Given the description of an element on the screen output the (x, y) to click on. 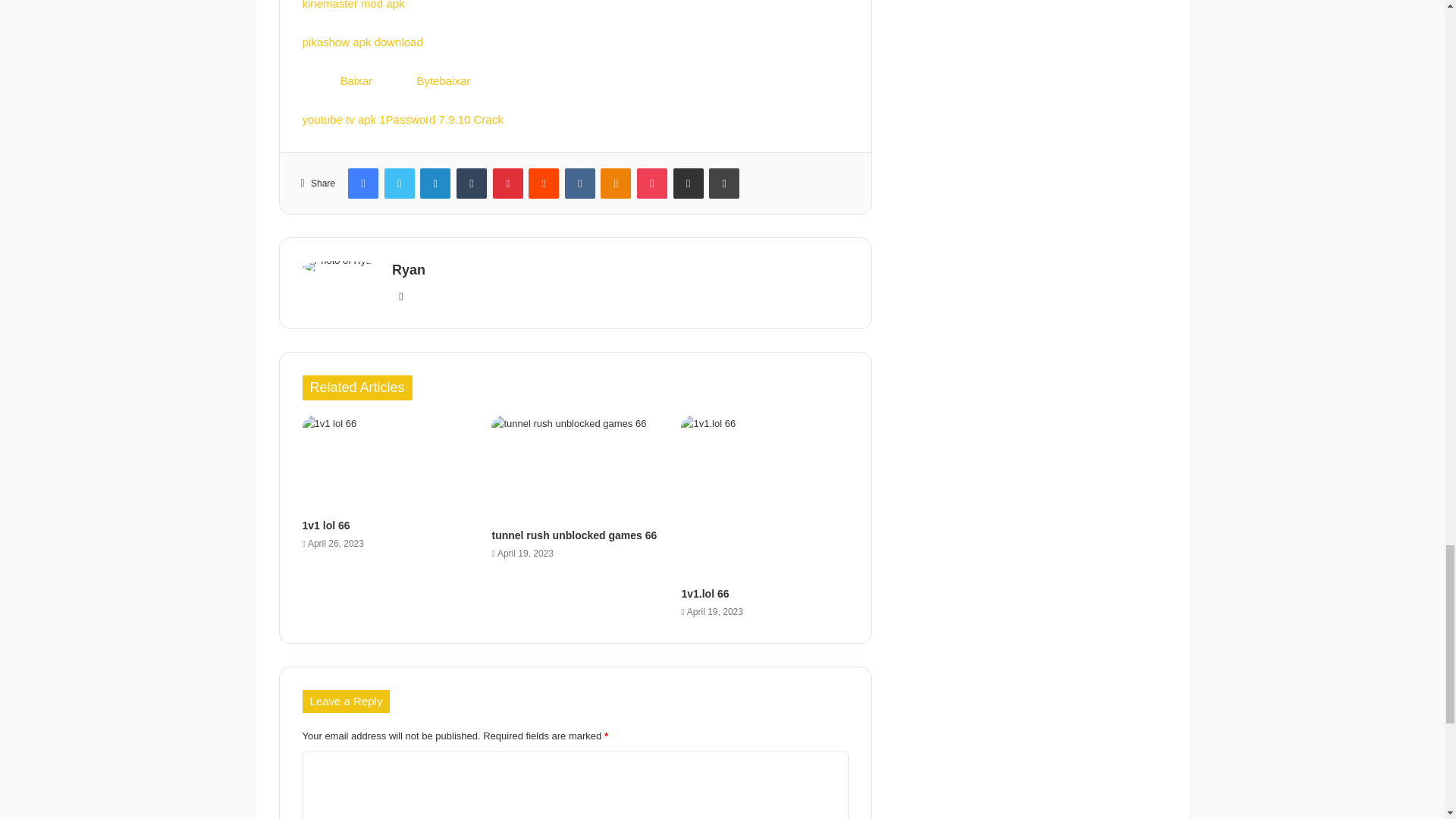
pikashow apk download (361, 42)
kinemaster mod apk (352, 4)
